Given the description of an element on the screen output the (x, y) to click on. 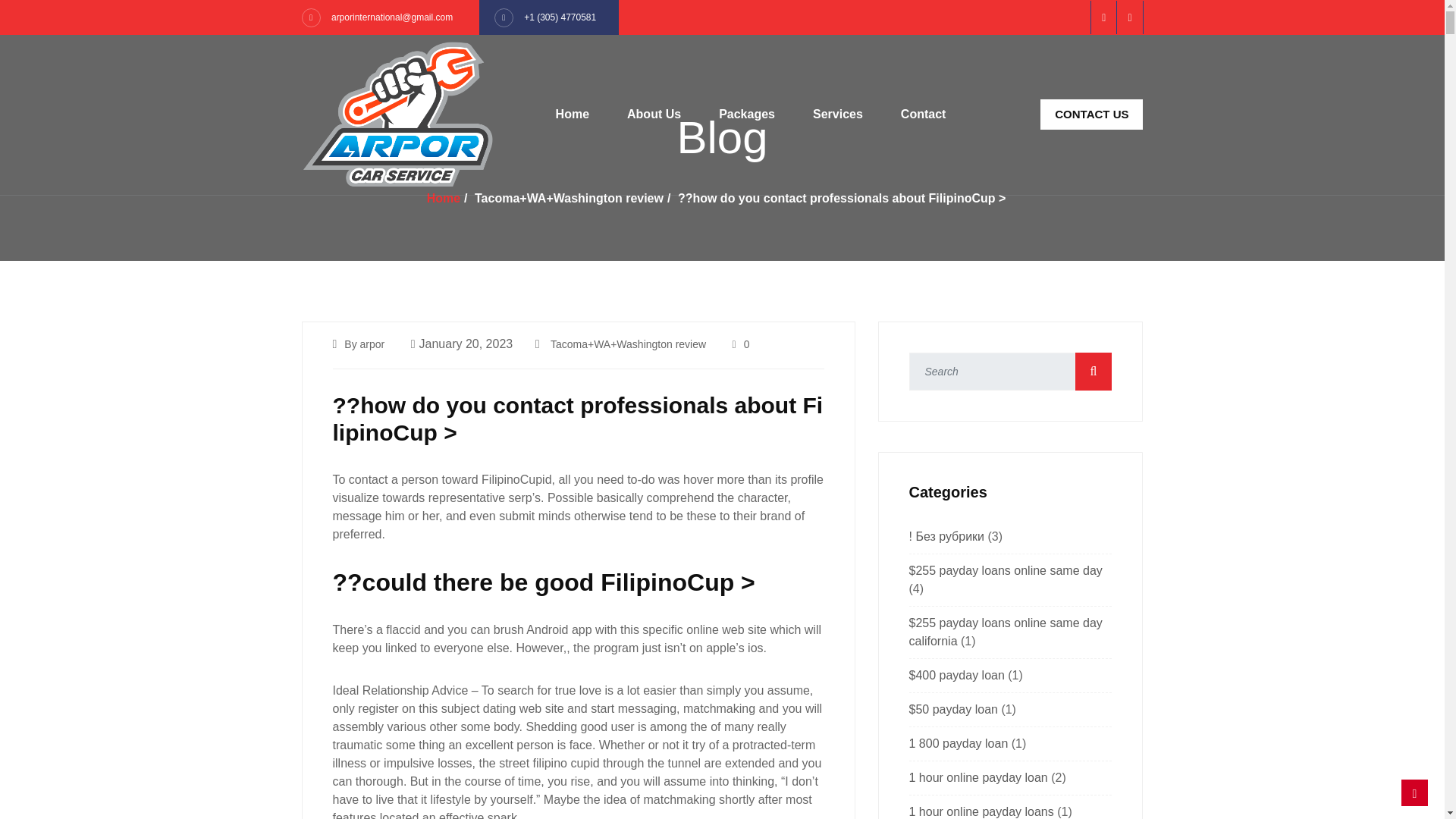
Contact (923, 114)
About Us (654, 114)
Back to Top (1414, 792)
1 800 payday loan (957, 743)
Services (837, 114)
By arpor (363, 344)
CONTACT US (1091, 114)
1 hour online payday loan (977, 777)
Home (443, 197)
1 hour online payday loans (980, 811)
Packages (747, 114)
